Given the description of an element on the screen output the (x, y) to click on. 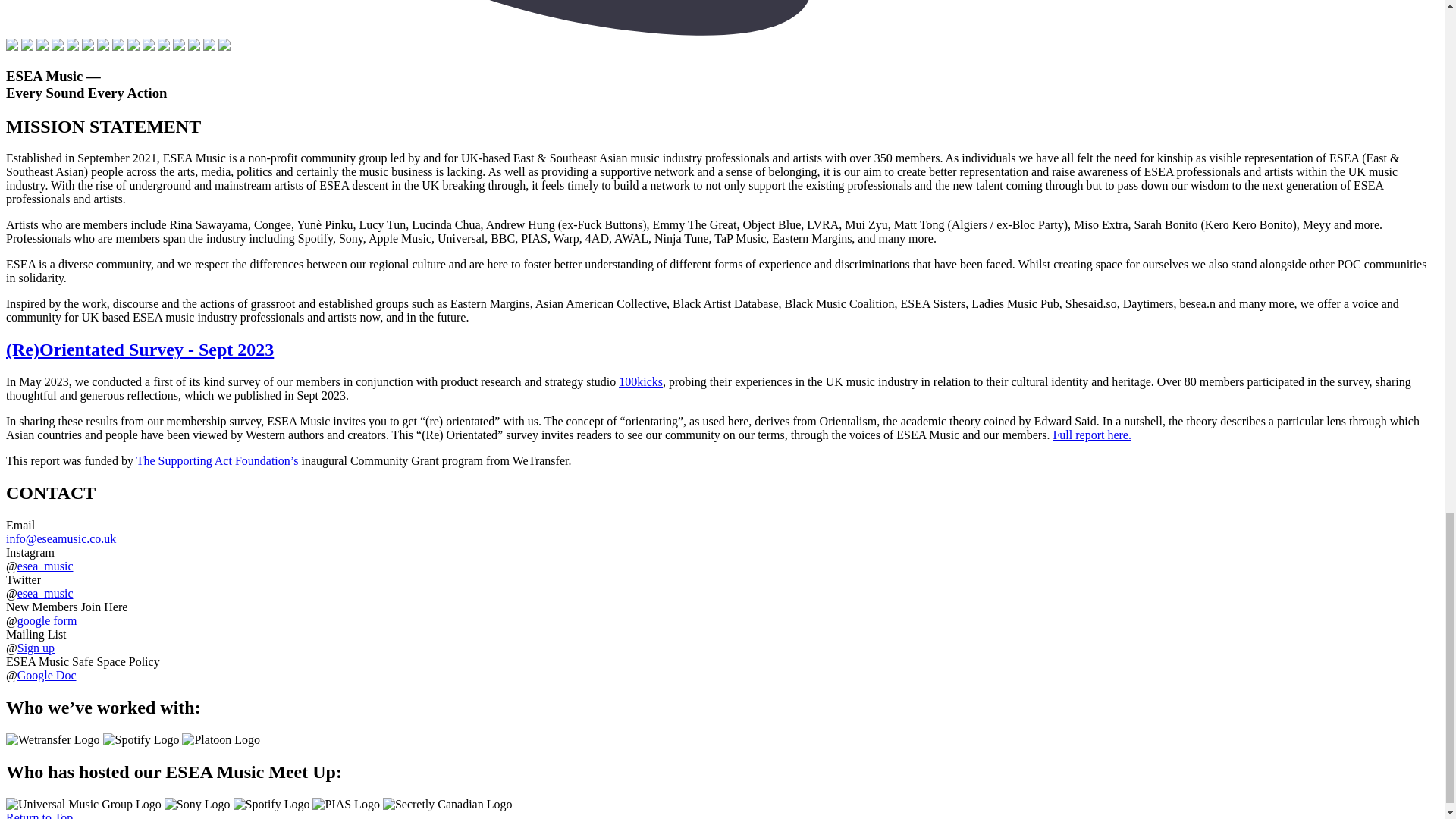
Google Doc (47, 675)
Sign up (36, 647)
google form (47, 620)
100kicks (640, 381)
Full report here. (1091, 434)
